Given the description of an element on the screen output the (x, y) to click on. 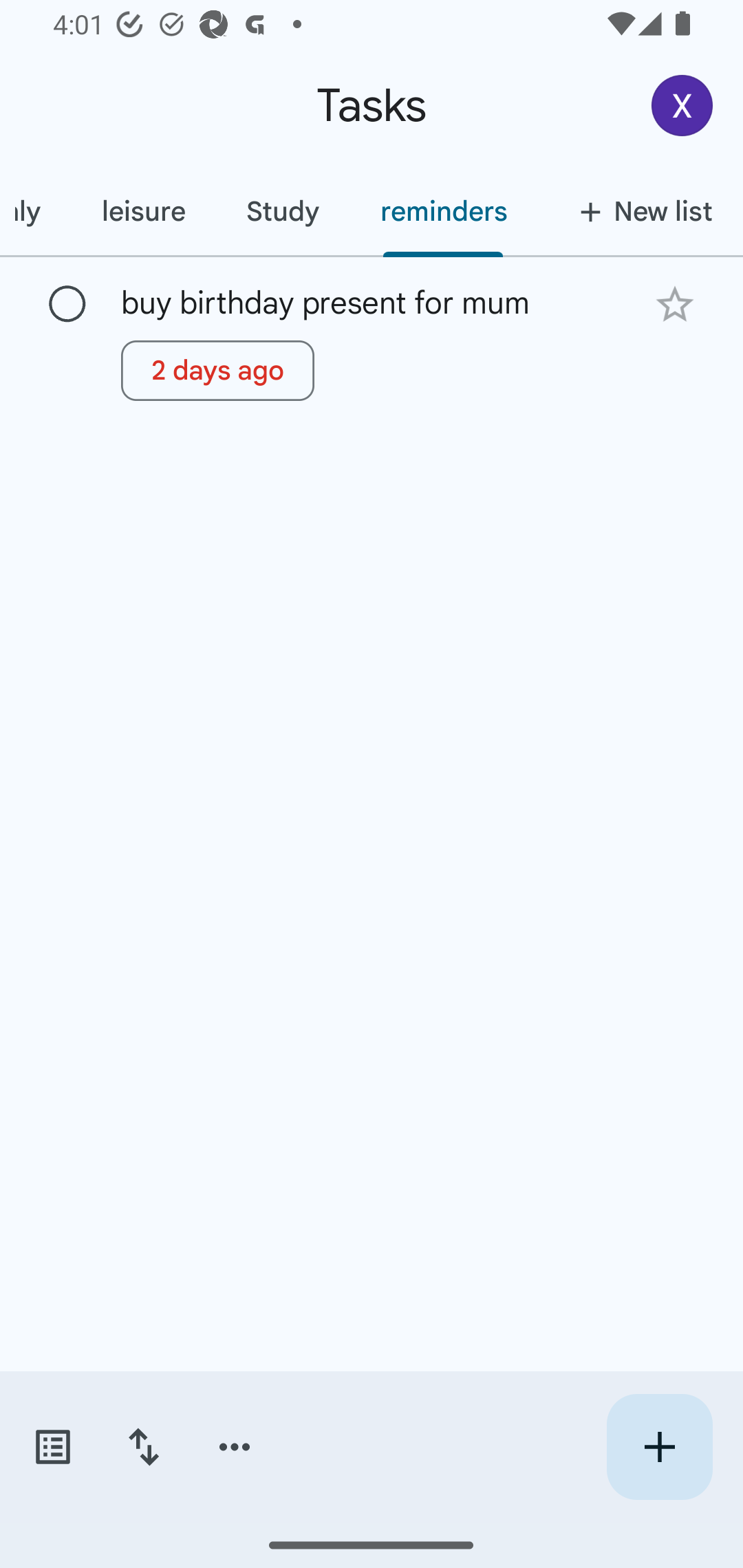
leisure (142, 211)
Study (282, 211)
New list (640, 211)
Add star (674, 303)
Mark as complete (67, 304)
2 days ago (217, 369)
Switch task lists (52, 1447)
Create new task (659, 1446)
Change sort order (143, 1446)
More options (234, 1446)
